Given the description of an element on the screen output the (x, y) to click on. 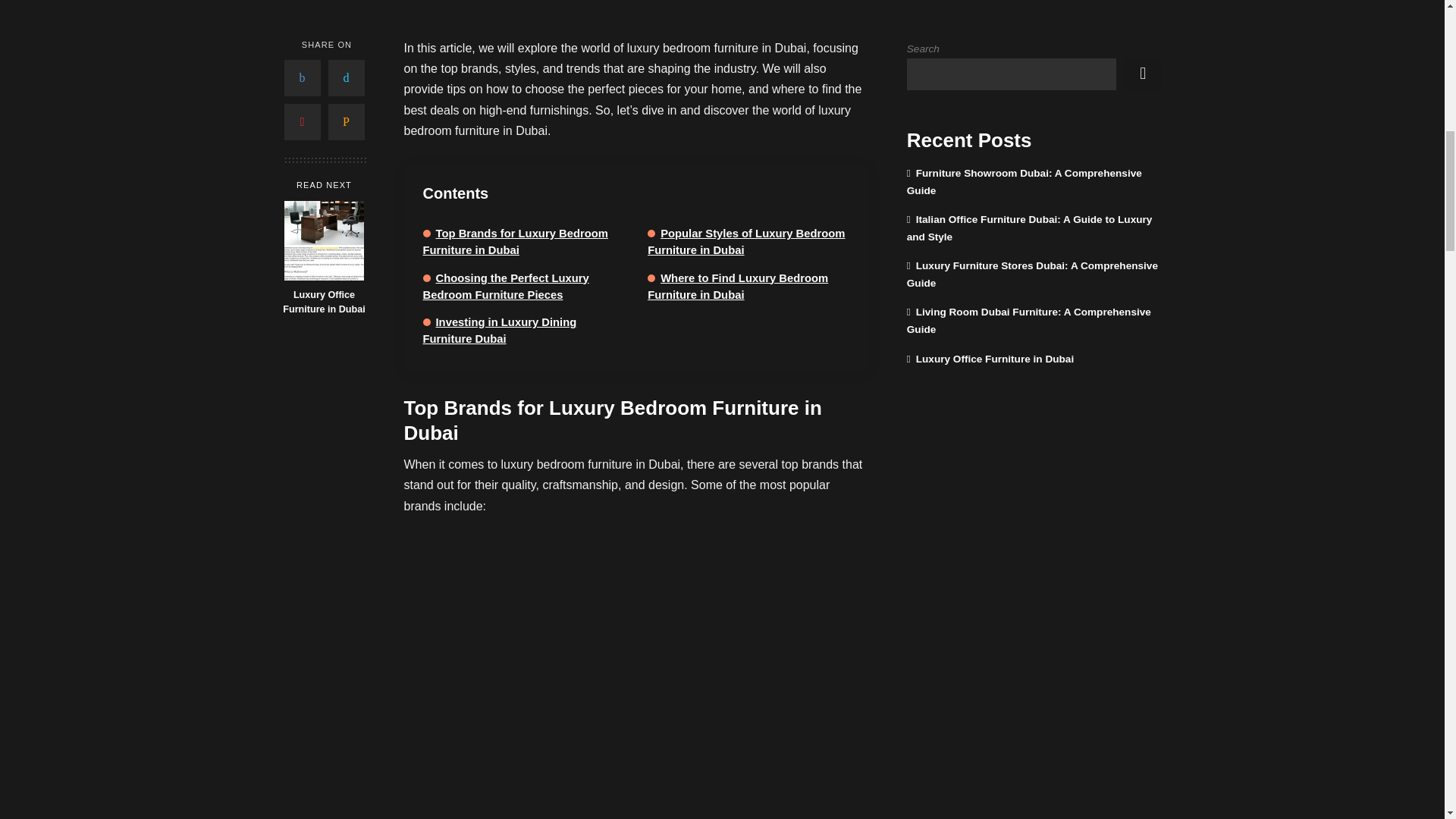
Furniture Showroom Dubai: A Comprehensive Guide (1024, 181)
Luxury Office Furniture in Dubai (323, 302)
Investing in Luxury Dining Furniture Dubai (499, 330)
Facebook (301, 77)
Twitter (345, 77)
Luxury Office Furniture In Dubai 3 (323, 240)
Where to Find Luxury Bedroom Furniture in Dubai (737, 285)
Top Brands for Luxury Bedroom Furniture in Dubai (515, 241)
Popular Styles of Luxury Bedroom Furniture in Dubai (745, 241)
Email (345, 122)
Search (1142, 74)
Pinterest (301, 122)
Choosing the Perfect Luxury Bedroom Furniture Pieces (506, 285)
